Given the description of an element on the screen output the (x, y) to click on. 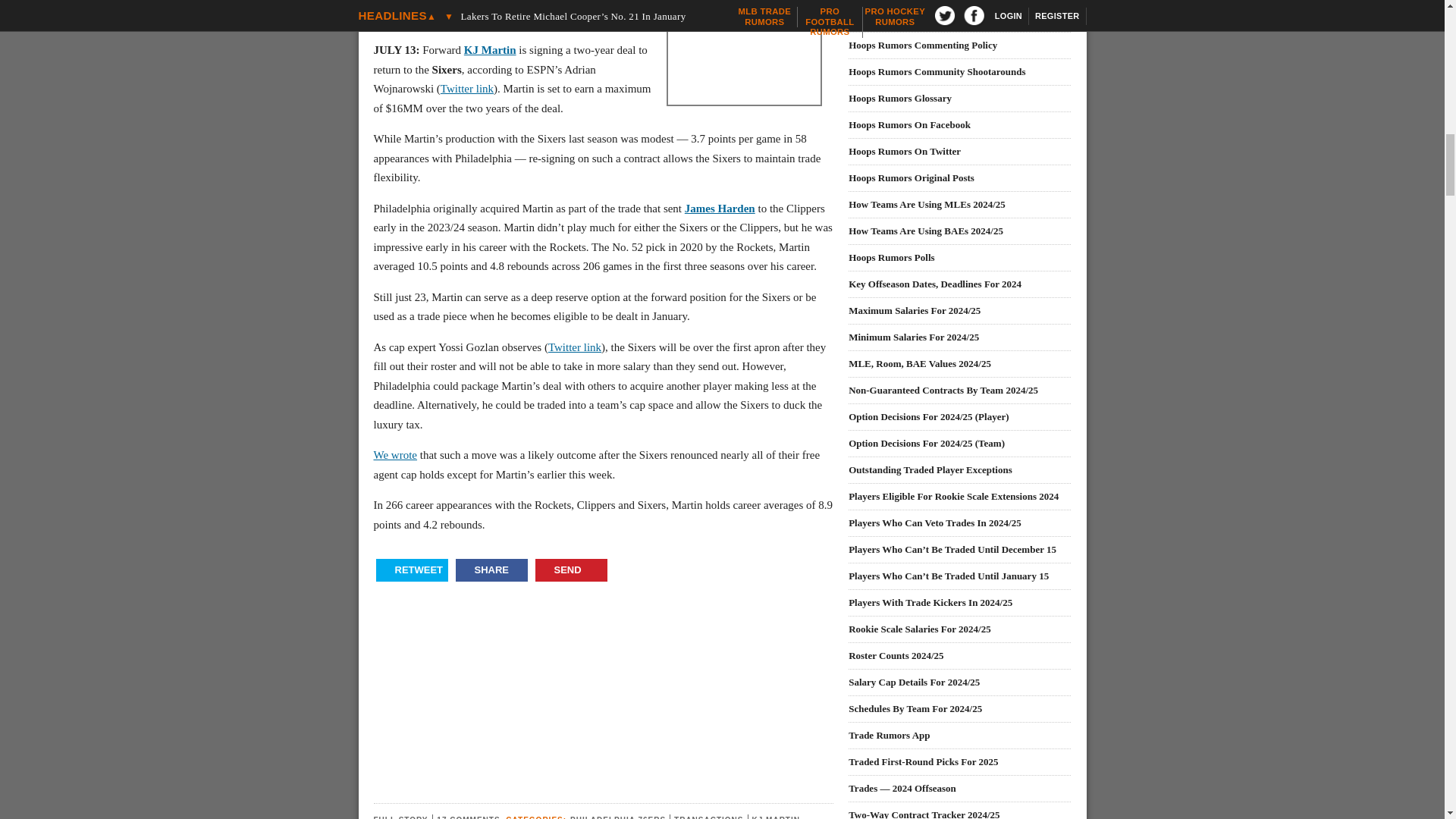
Retweet 'KJ Martin Re-Signs With Sixers' on Twitter (411, 569)
Share 'KJ Martin Re-Signs With Sixers' on Facebook (490, 569)
Send KJ Martin Re-Signs With Sixers with an email (571, 569)
